Given the description of an element on the screen output the (x, y) to click on. 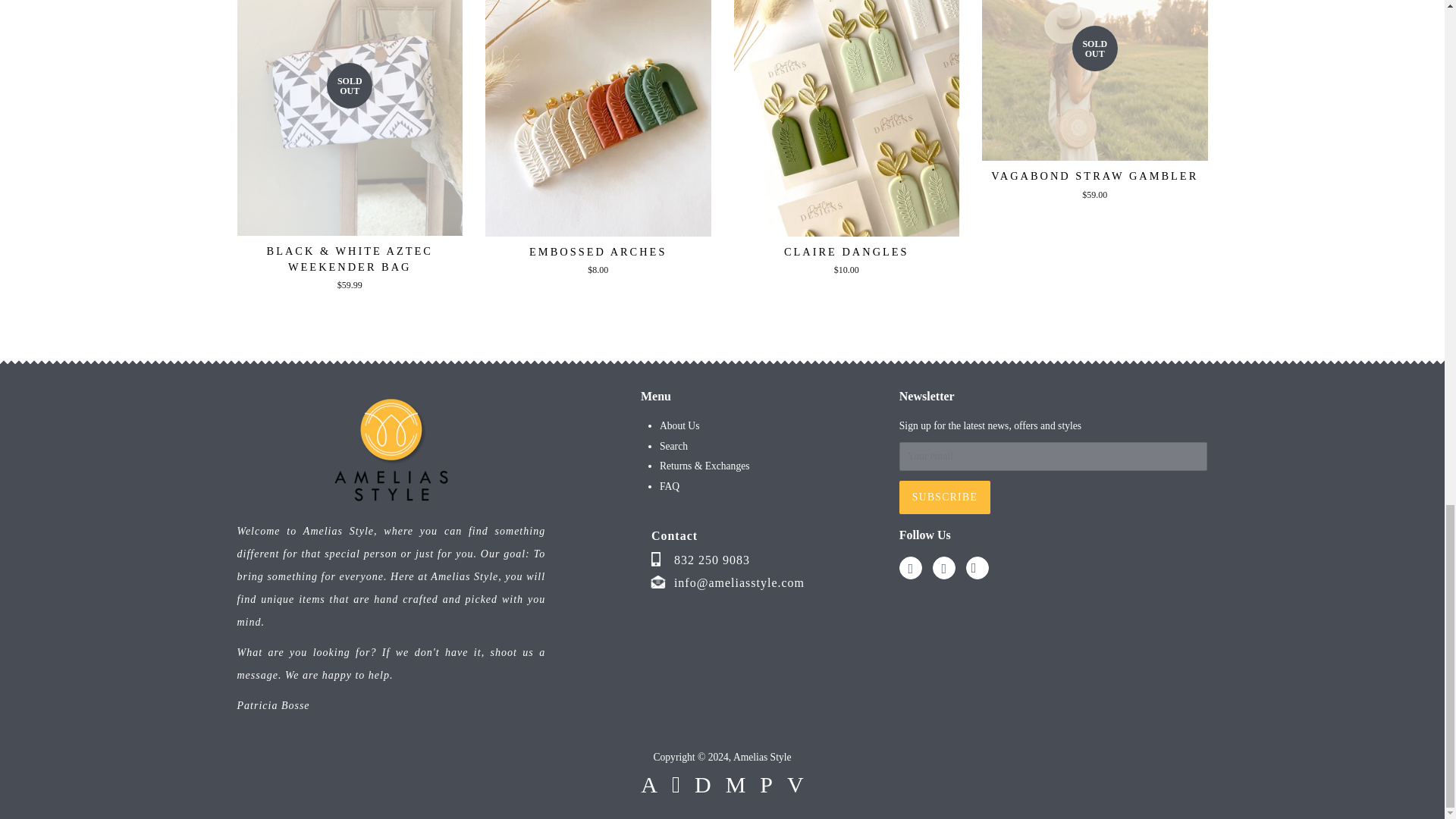
Subscribe (944, 497)
